Given the description of an element on the screen output the (x, y) to click on. 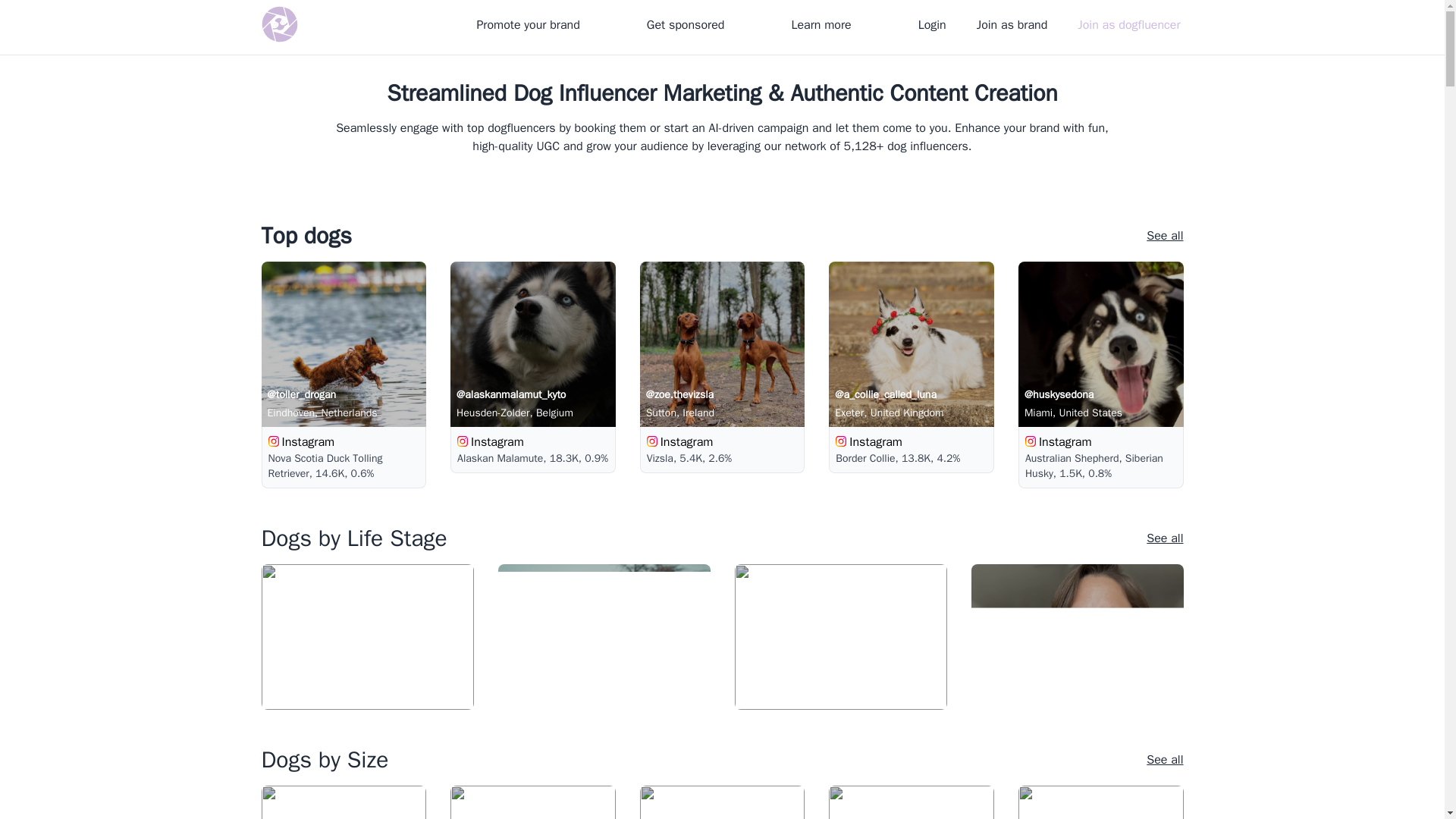
Learn more (820, 24)
Login (932, 24)
Join as dogfluencer (1128, 24)
Get sponsored (685, 24)
See all (1164, 235)
Promote your brand (527, 24)
Join as brand (1012, 24)
